Given the description of an element on the screen output the (x, y) to click on. 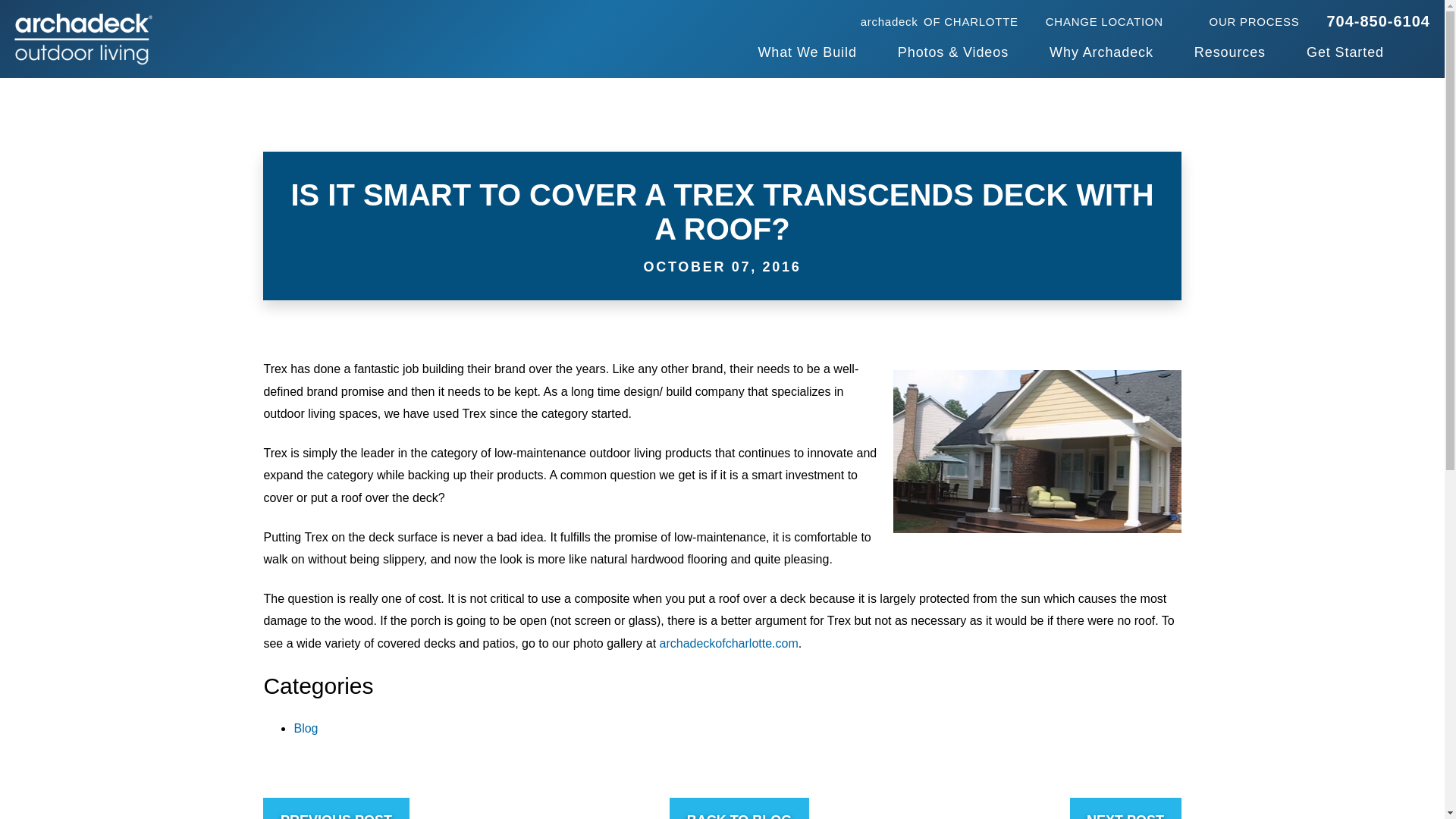
Why Archadeck (1101, 53)
Archadeck (83, 39)
CHANGE LOCATION (1113, 20)
What We Build (806, 53)
OUR PROCESS (938, 20)
704-850-6104 (1254, 20)
Resources (1377, 20)
